Given the description of an element on the screen output the (x, y) to click on. 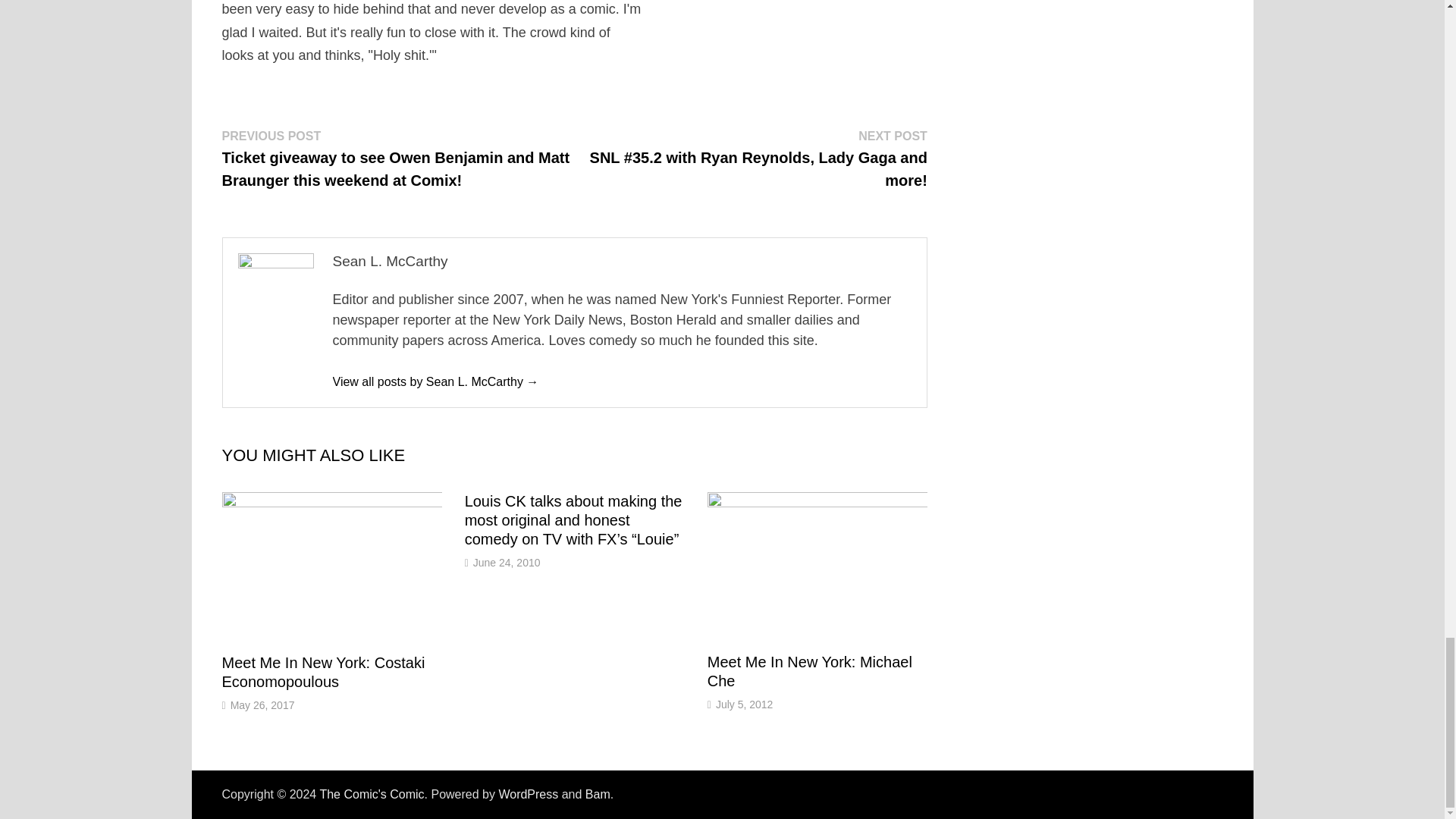
Meet Me In New York: Costaki Economopoulous (323, 672)
The Comic's Comic (370, 793)
Meet Me In New York: Costaki Economopoulous (323, 672)
May 26, 2017 (262, 705)
June 24, 2010 (506, 562)
Meet Me In New York: Michael Che (809, 671)
Sean L. McCarthy (434, 381)
Meet Me In New York: Michael Che (809, 671)
